Given the description of an element on the screen output the (x, y) to click on. 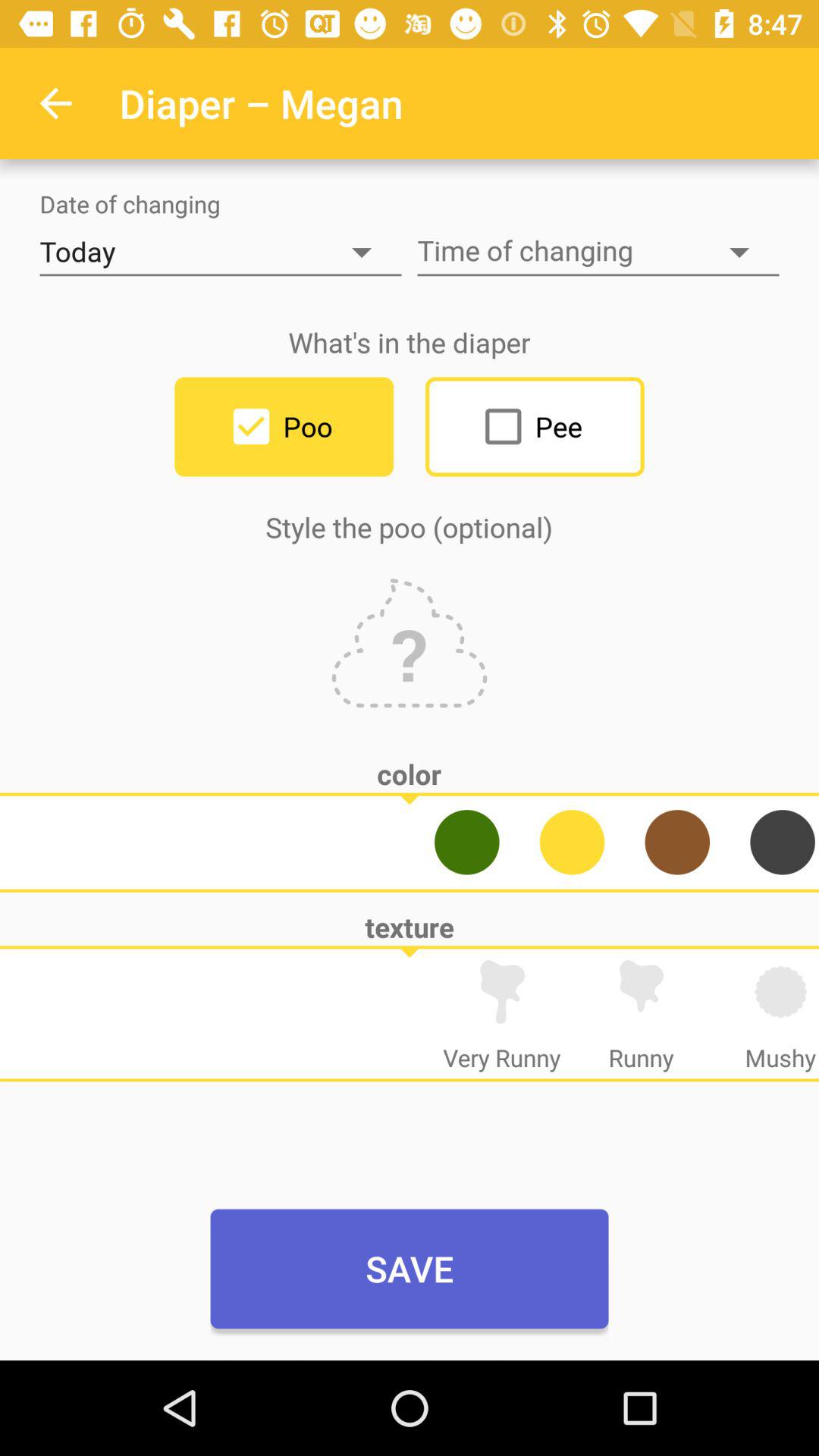
color for diaper (782, 842)
